Given the description of an element on the screen output the (x, y) to click on. 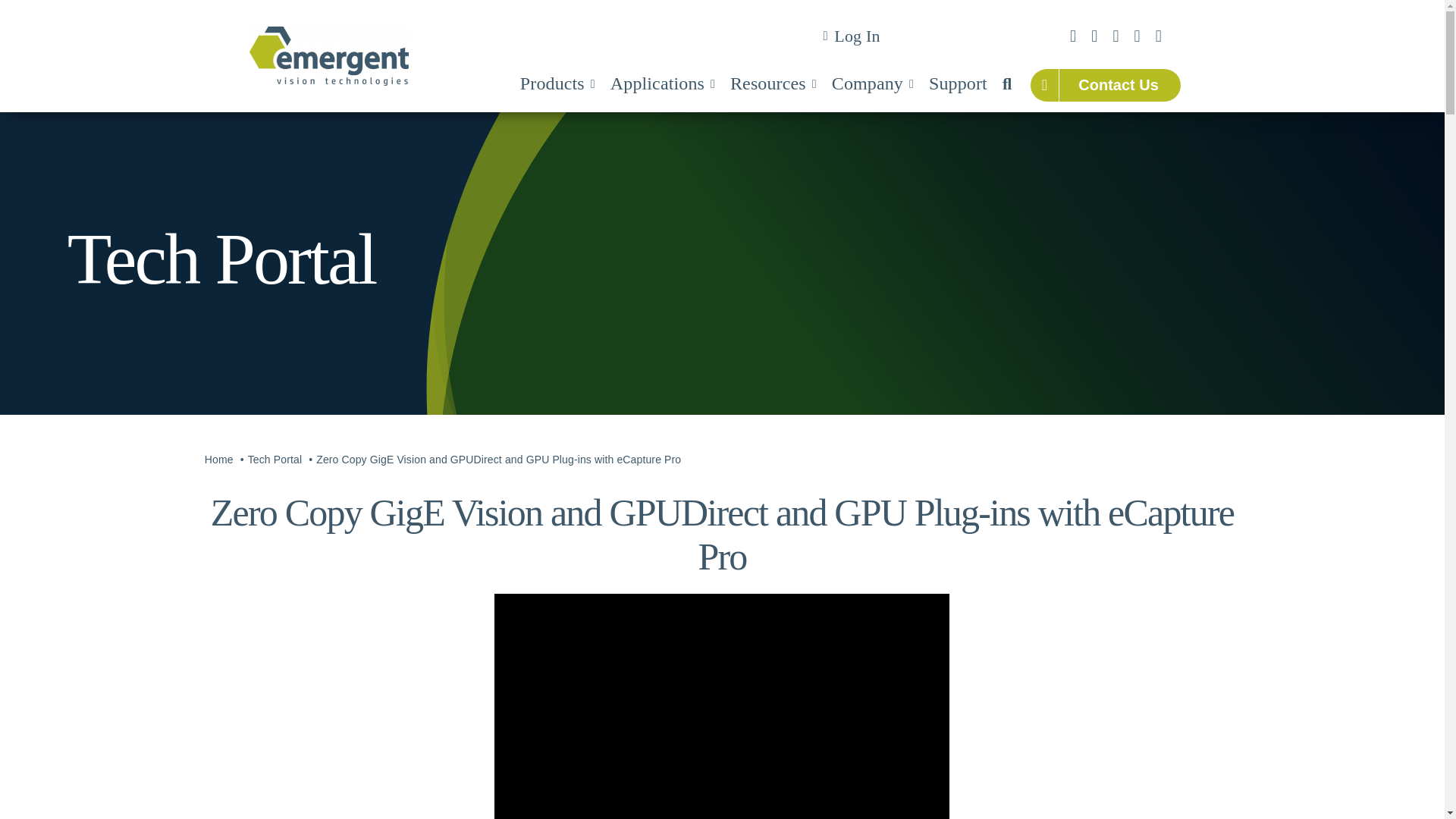
YouTube video player 1 (722, 706)
Products (557, 84)
Log In (848, 36)
